Given the description of an element on the screen output the (x, y) to click on. 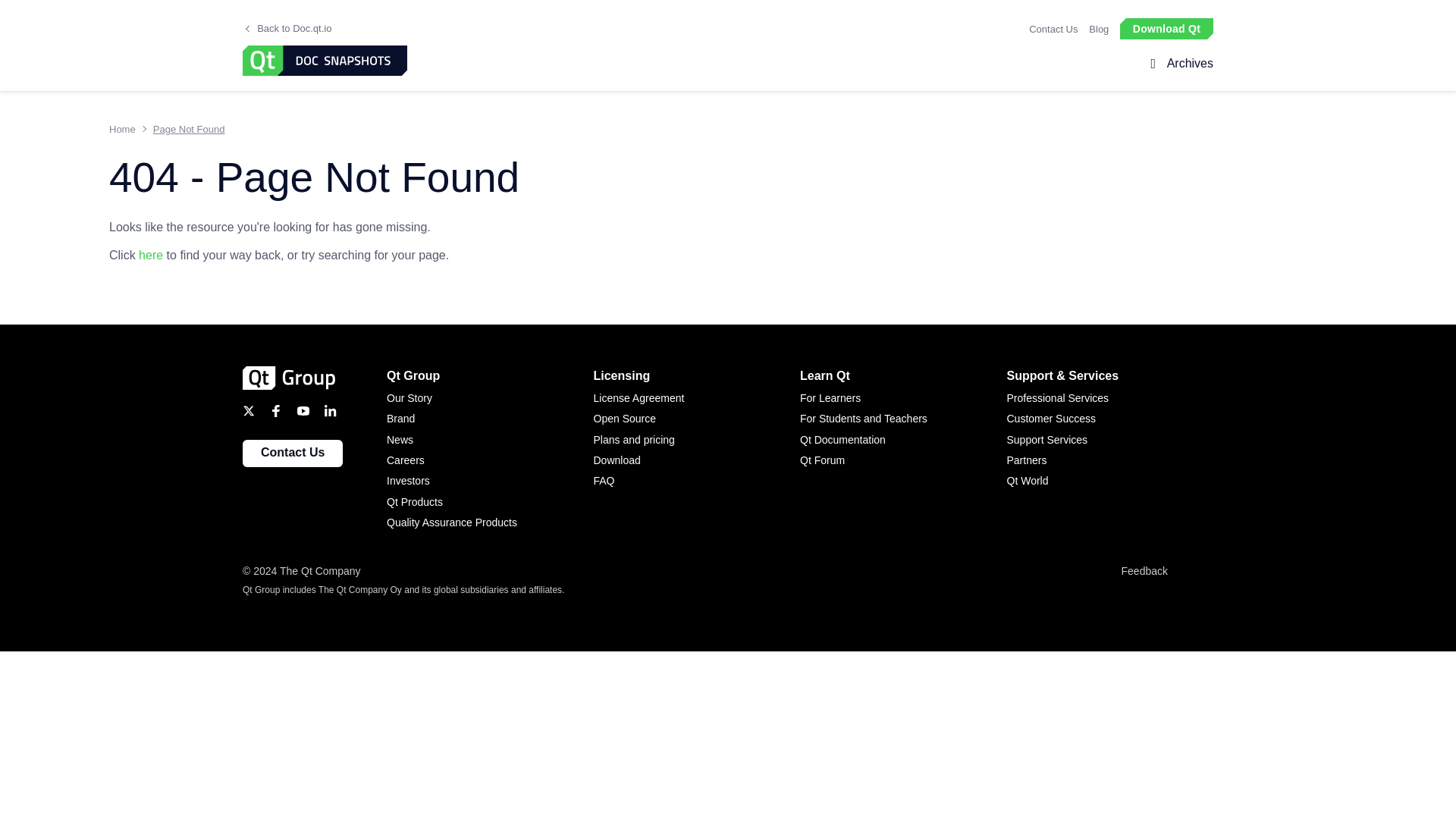
Contact Us (292, 452)
Support Services (1110, 439)
Licensing (695, 375)
Our Story (490, 397)
Contact Us (1053, 28)
Qt Group (490, 375)
Download Qt (1165, 27)
For Students and Teachers (903, 418)
Partners (1110, 460)
Qt World (1110, 480)
Qt Documentation (903, 439)
News (490, 439)
Brand (490, 418)
Archives (1185, 63)
Back to Doc.qt.io (289, 28)
